Given the description of an element on the screen output the (x, y) to click on. 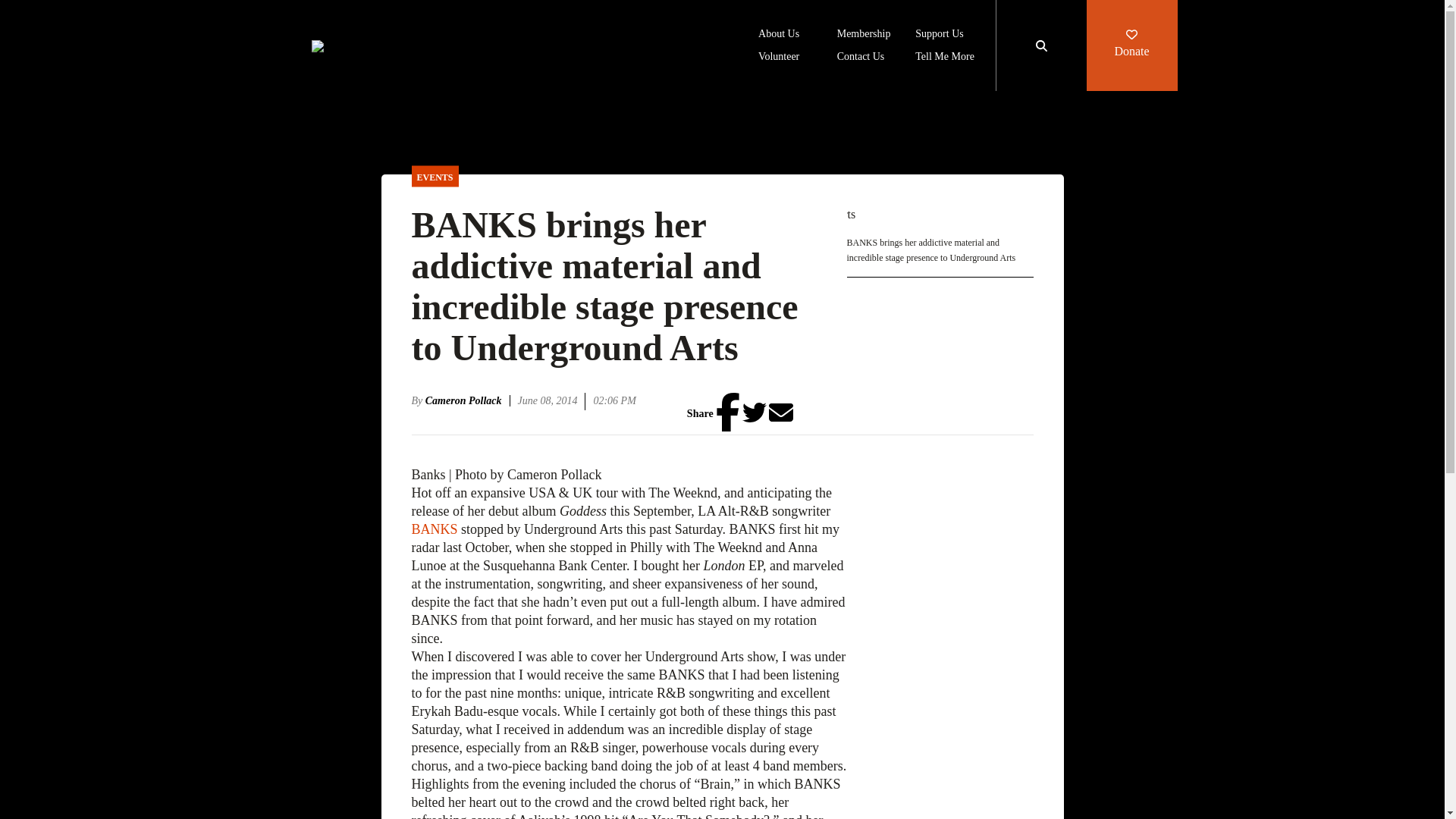
Membership (864, 35)
BANKS (435, 529)
Volunteer (778, 57)
Donate (1131, 45)
Support Us (938, 35)
About Us (778, 35)
Cameron Pollack (468, 400)
Tell Me More (944, 57)
Contact Us (861, 57)
